Given the description of an element on the screen output the (x, y) to click on. 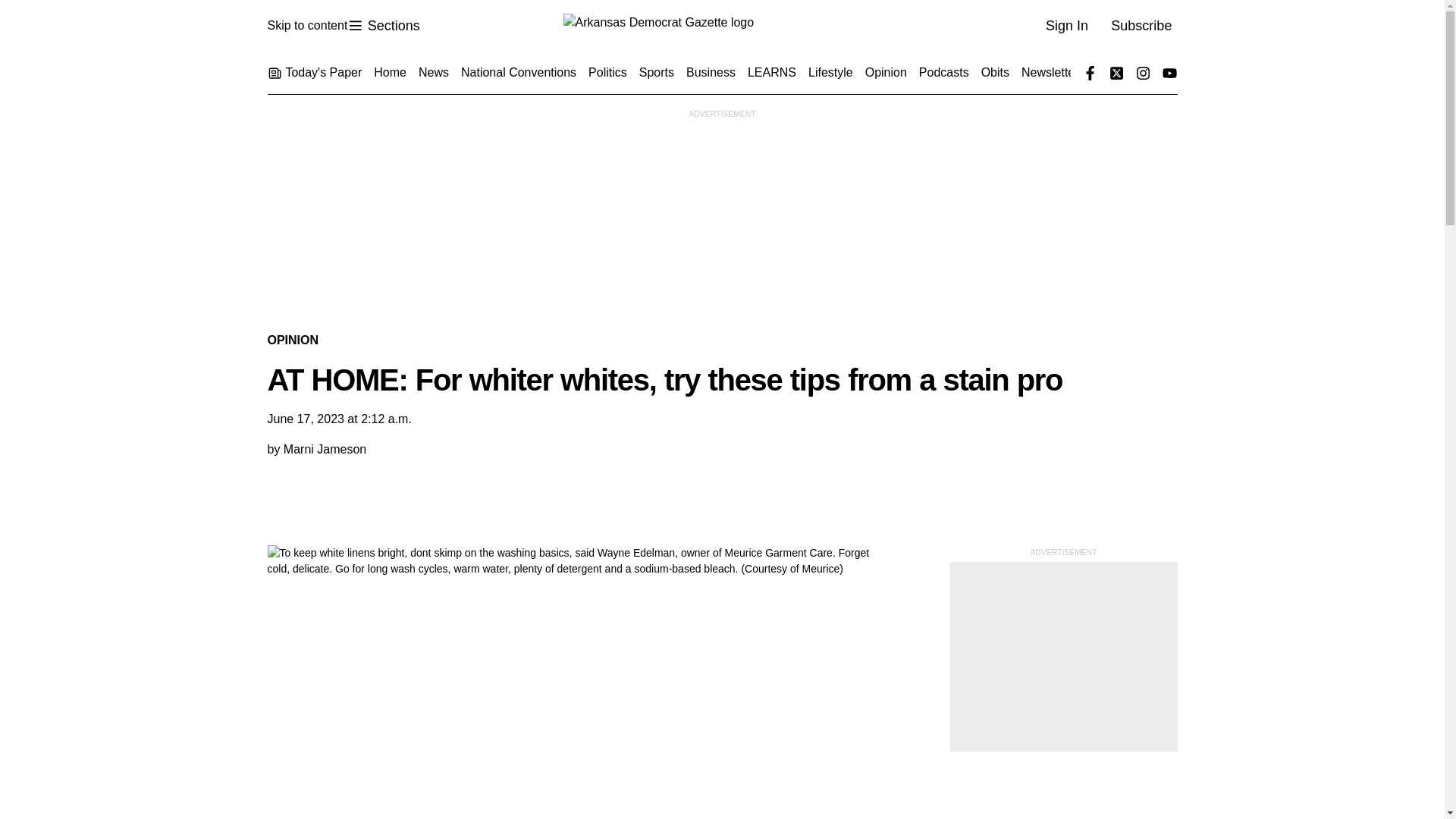
Arkansas Democrat Gazette (721, 25)
Skip to content (306, 25)
